Given the description of an element on the screen output the (x, y) to click on. 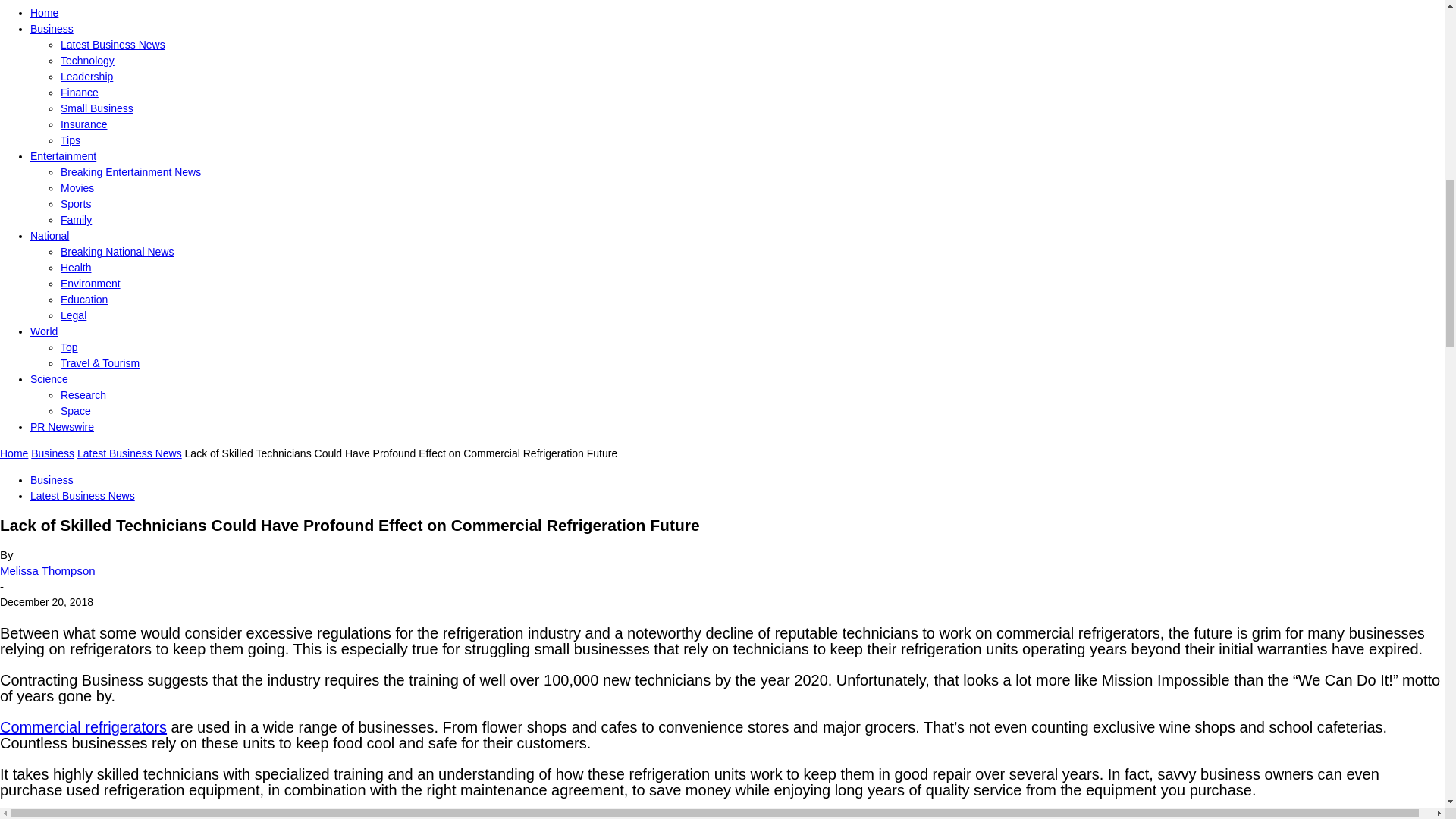
Technology (88, 60)
View all posts in Latest Business News (129, 453)
Latest Business News (113, 44)
Home (44, 12)
View all posts in Business (52, 453)
Business (52, 28)
